Given the description of an element on the screen output the (x, y) to click on. 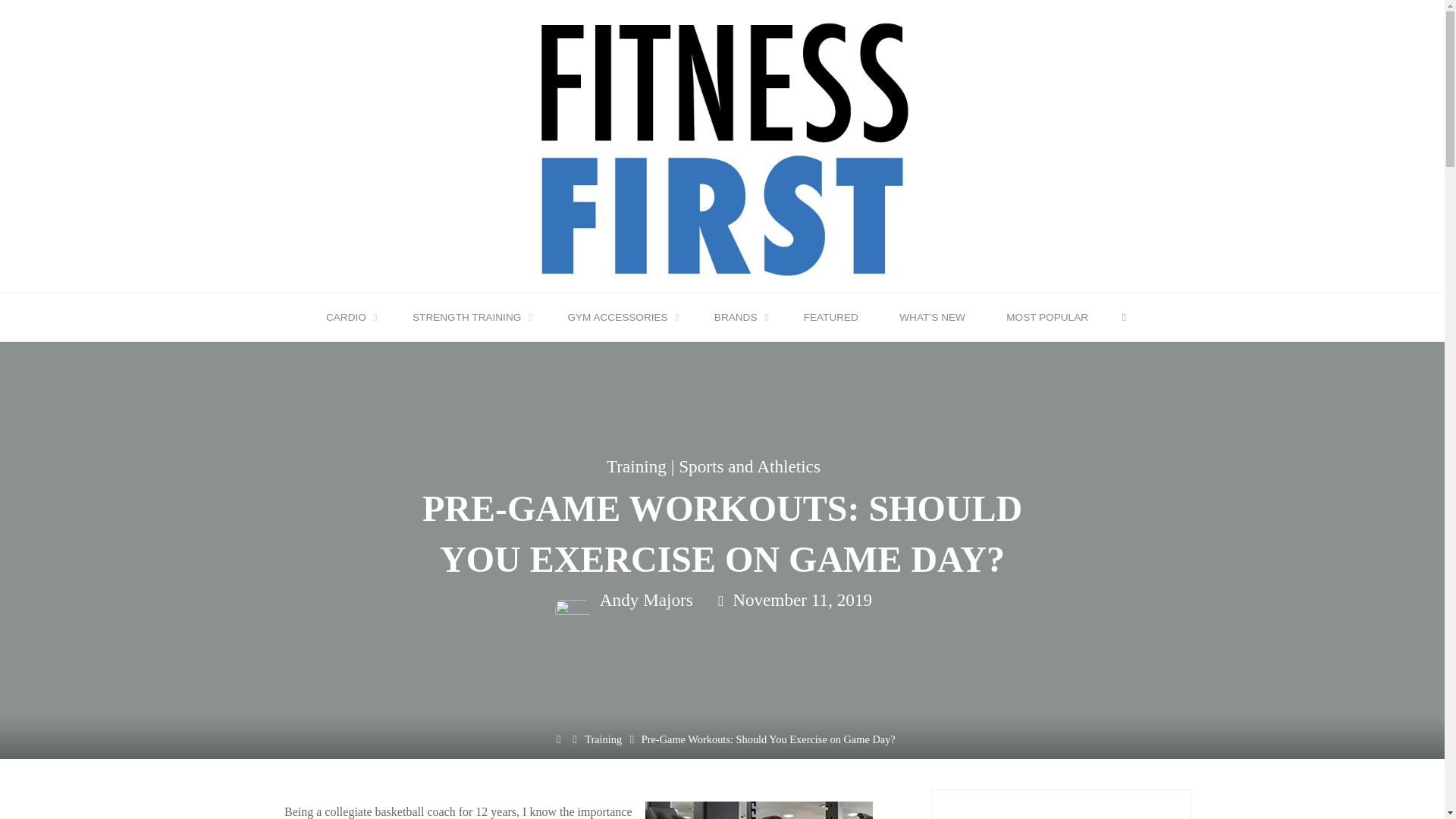
Home (557, 739)
Date (720, 600)
Fitness 1st Home (722, 144)
View all posts by Andy Majors (644, 599)
